Given the description of an element on the screen output the (x, y) to click on. 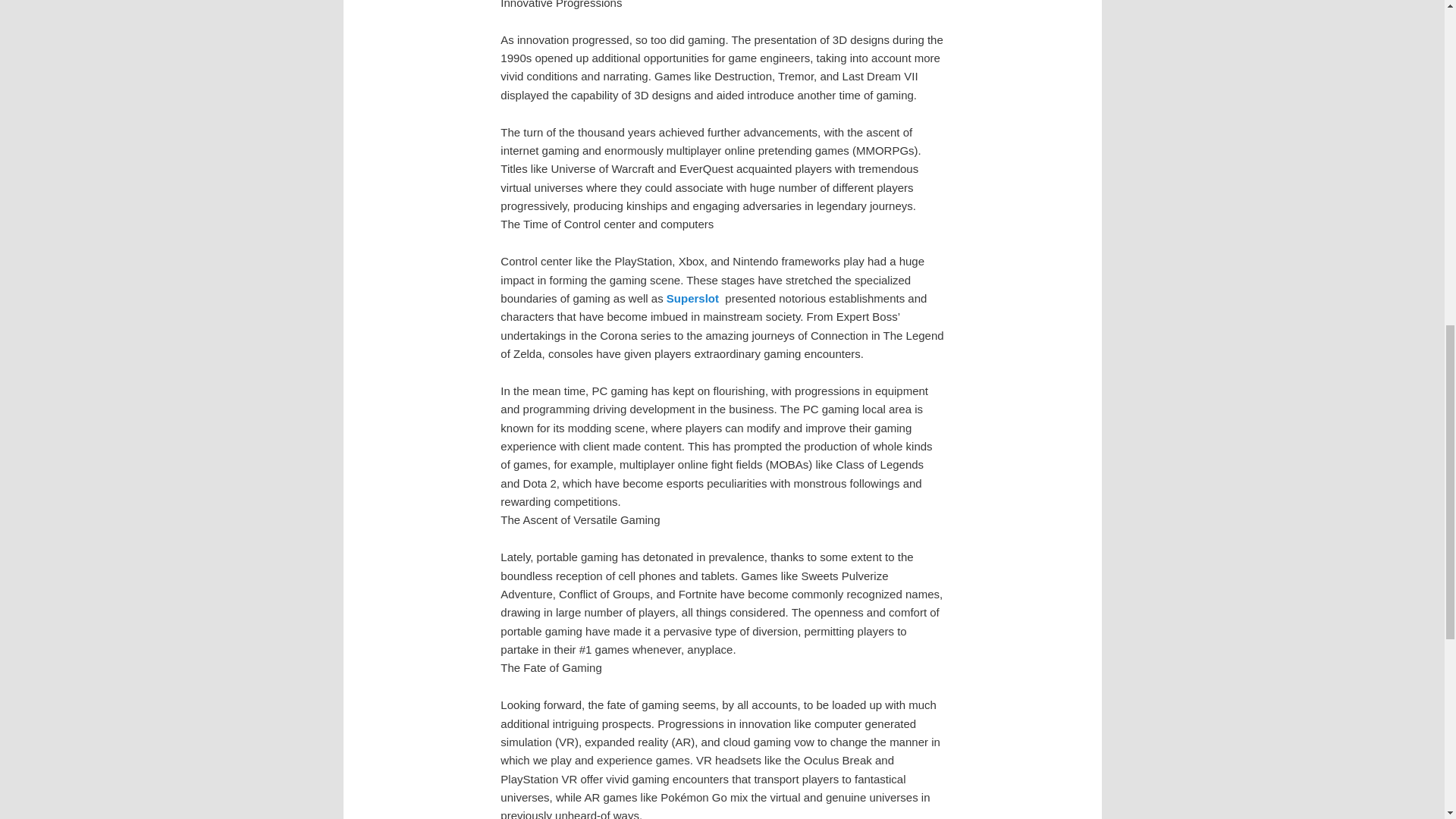
Superslot (692, 297)
